Given the description of an element on the screen output the (x, y) to click on. 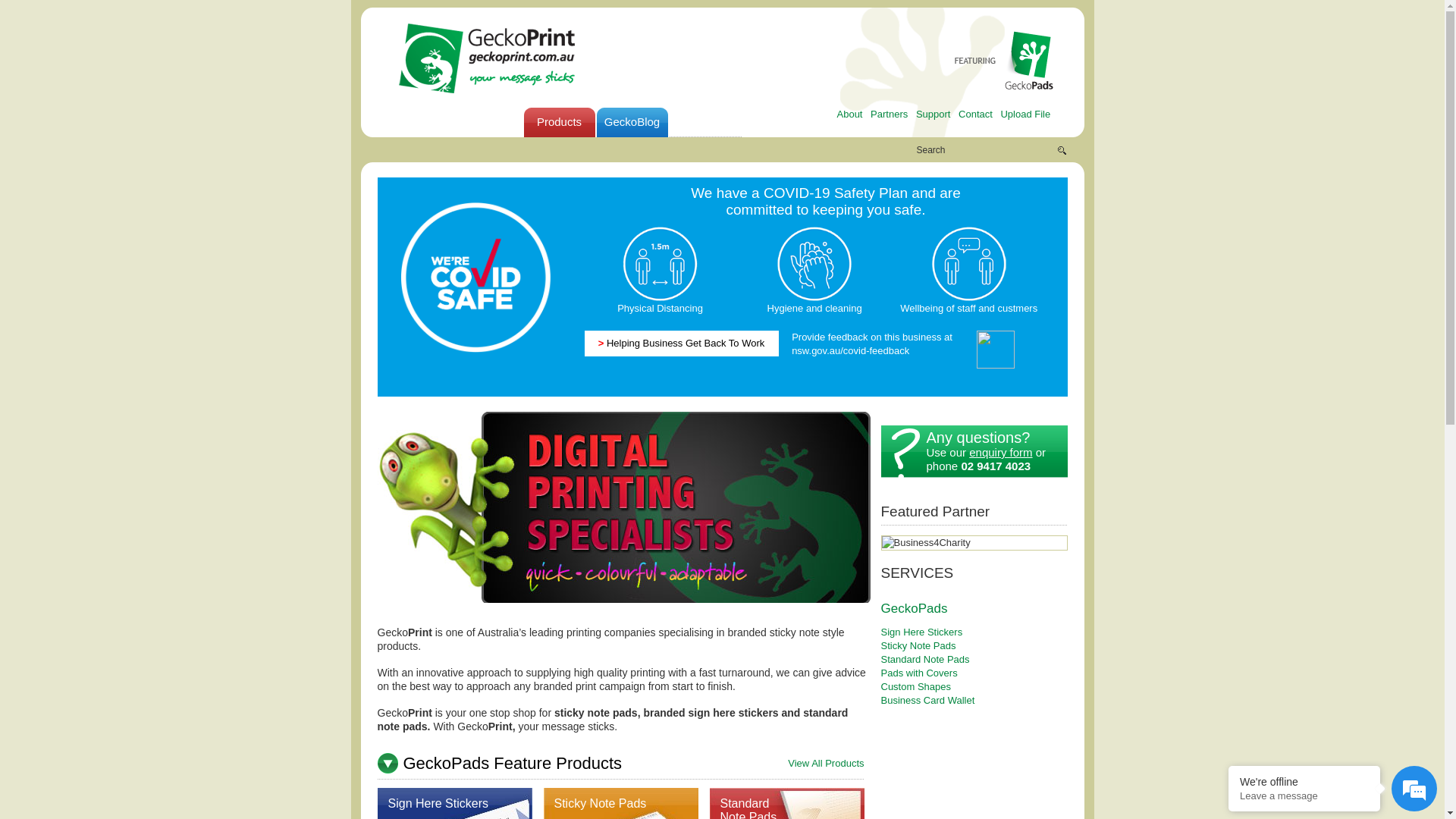
GeckoPads Element type: text (914, 607)
GeckoPrint - Printing Services in Sydney Element type: text (485, 58)
Sticky Note Pads Element type: text (918, 645)
Home Element type: text (412, 122)
Upload File Element type: text (1025, 113)
Sign Here Stickers Element type: text (438, 803)
Quote Element type: text (776, 122)
About Element type: text (849, 113)
Support Element type: text (933, 113)
GeckoBlog Element type: text (631, 122)
Business Card Wallet Element type: text (928, 700)
View All Products Element type: text (825, 763)
Custom Shapes Element type: text (916, 686)
Sticky Note Pads Element type: text (599, 803)
Partners Element type: text (888, 113)
enquiry form Element type: text (1000, 451)
Featuring GeckoPads Element type: text (1002, 60)
Sign Here Stickers Element type: text (922, 631)
Pads with Covers Element type: text (919, 672)
nsw.gov.au/covid-feedback Element type: text (850, 349)
Services Element type: text (485, 122)
Contact Element type: text (975, 113)
News Element type: text (704, 122)
Standard Note Pads Element type: text (925, 659)
Products Element type: text (558, 122)
